Given the description of an element on the screen output the (x, y) to click on. 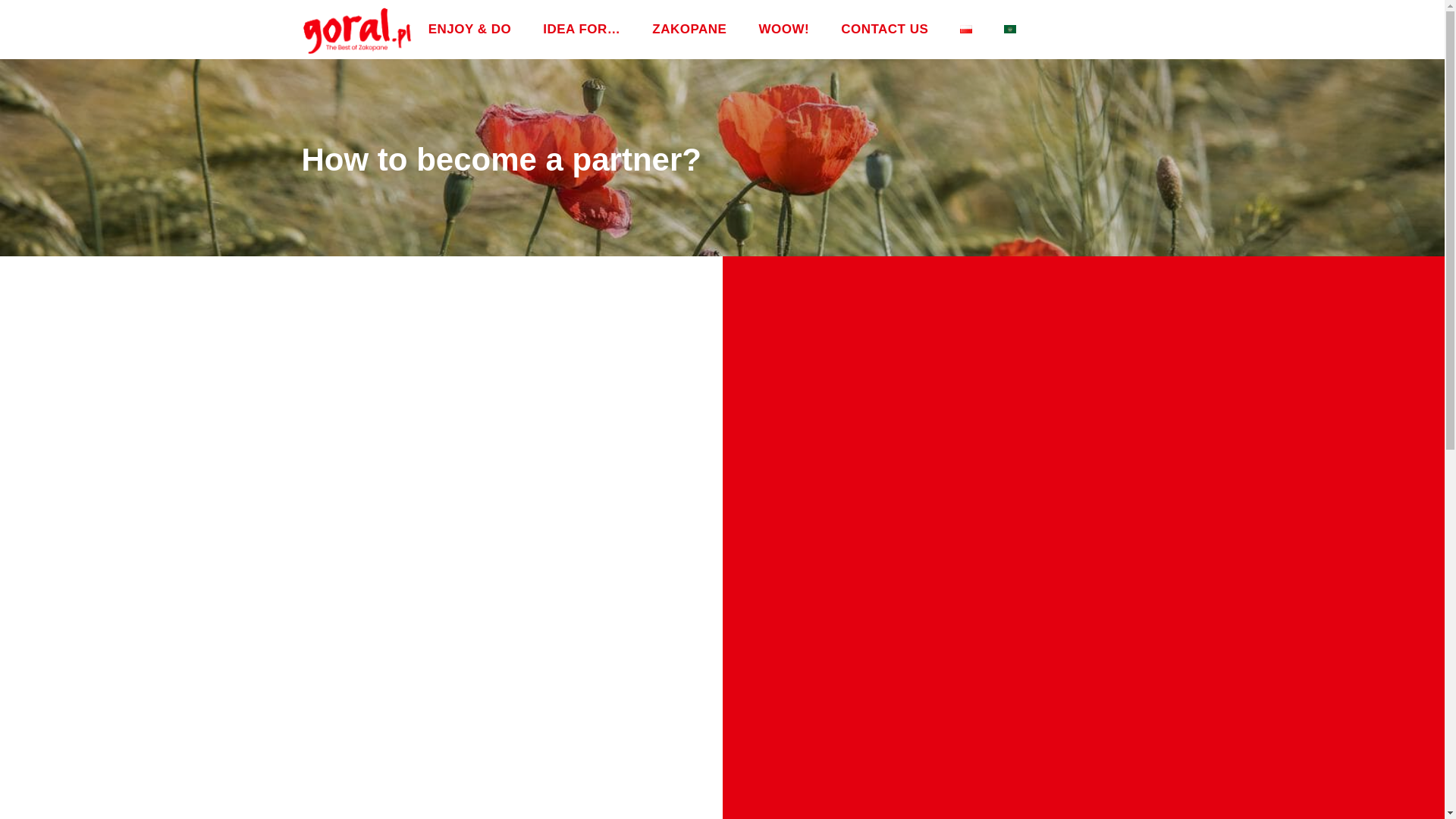
CONTACT US (884, 29)
WOOW! (783, 29)
logo (357, 30)
ZAKOPANE (689, 29)
